Given the description of an element on the screen output the (x, y) to click on. 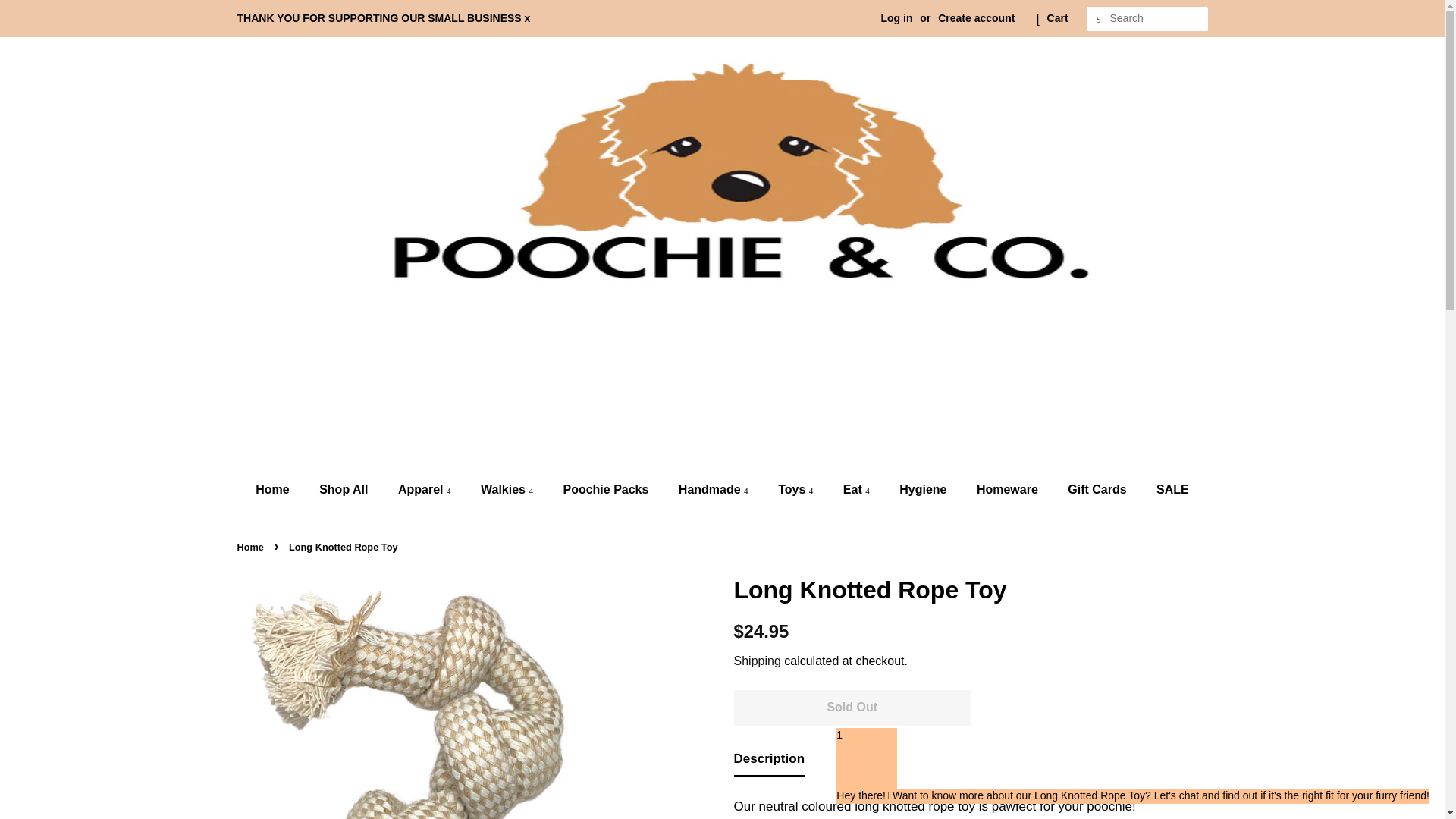
Search (1097, 18)
Log in (896, 18)
Cart (1057, 18)
Create account (975, 18)
Back to the frontpage (250, 546)
THANK YOU FOR SUPPORTING OUR SMALL BUSINESS x (382, 18)
